Given the description of an element on the screen output the (x, y) to click on. 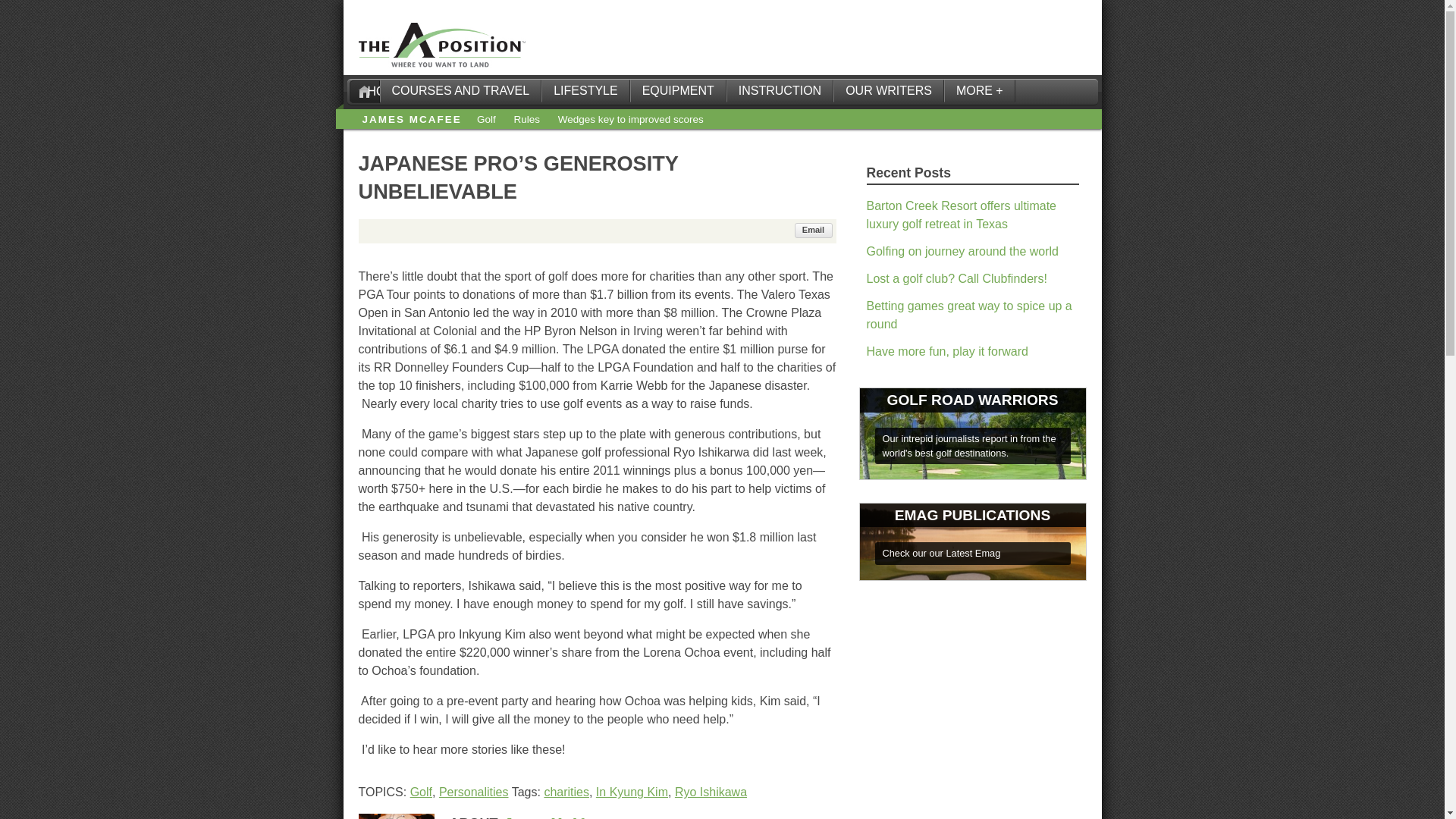
Rules (526, 119)
OUR WRITERS (887, 90)
Wedges key to improved scores (630, 119)
charities (566, 791)
Ryo Ishikawa (710, 791)
Golf (421, 791)
JAMES MCAFEE (411, 119)
EQUIPMENT (678, 90)
HOME (363, 91)
James McAfee (552, 817)
Betting games great way to spice up a round (968, 314)
Golf (486, 119)
Lost a golf club? Call Clubfinders! (956, 278)
LIFESTYLE (584, 90)
